Given the description of an element on the screen output the (x, y) to click on. 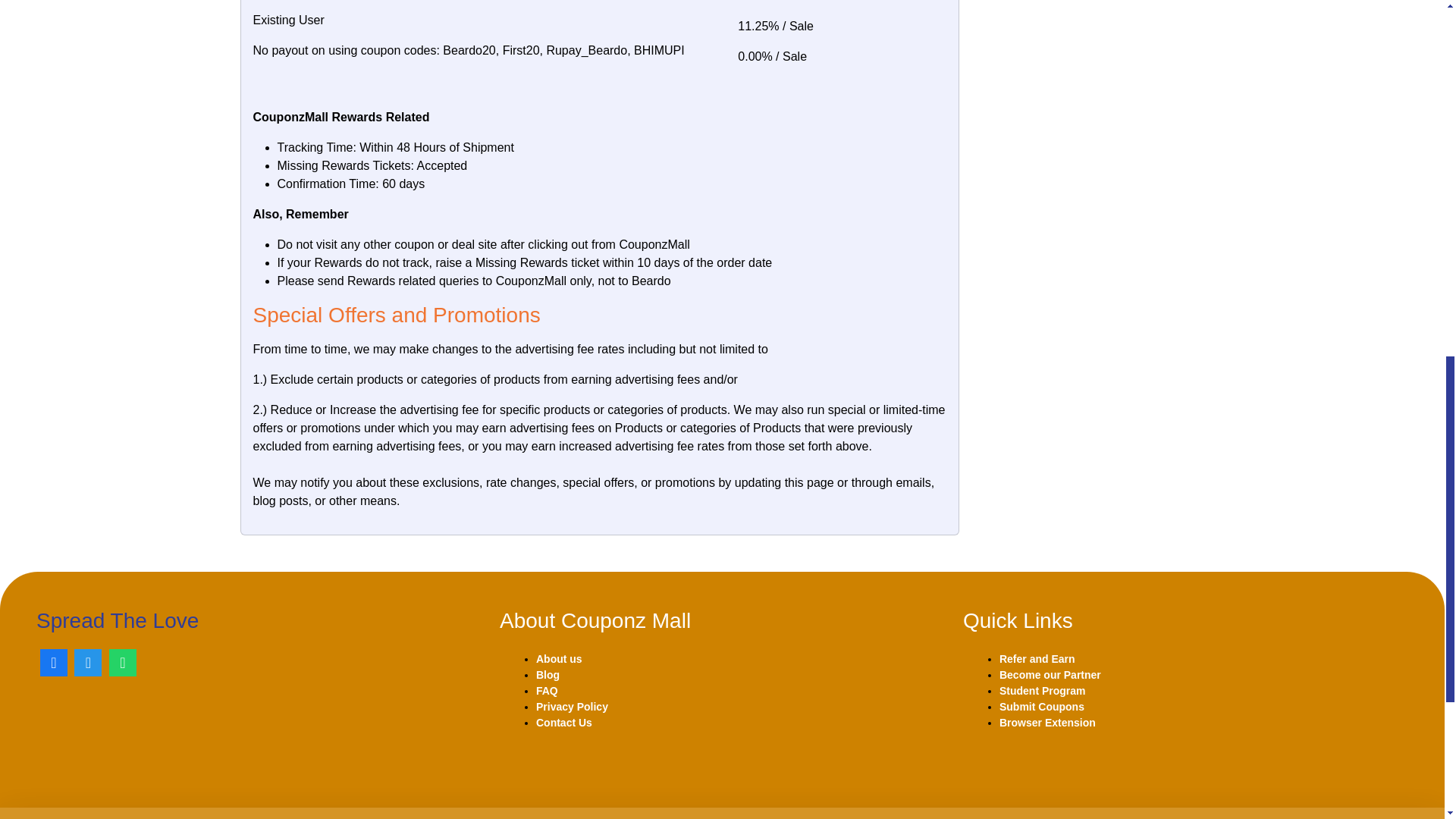
Blog (547, 674)
Twitter (87, 663)
About us (558, 658)
Privacy Policy (571, 706)
Whatsapp (122, 663)
FAQ (546, 690)
Facebook (53, 663)
